Given the description of an element on the screen output the (x, y) to click on. 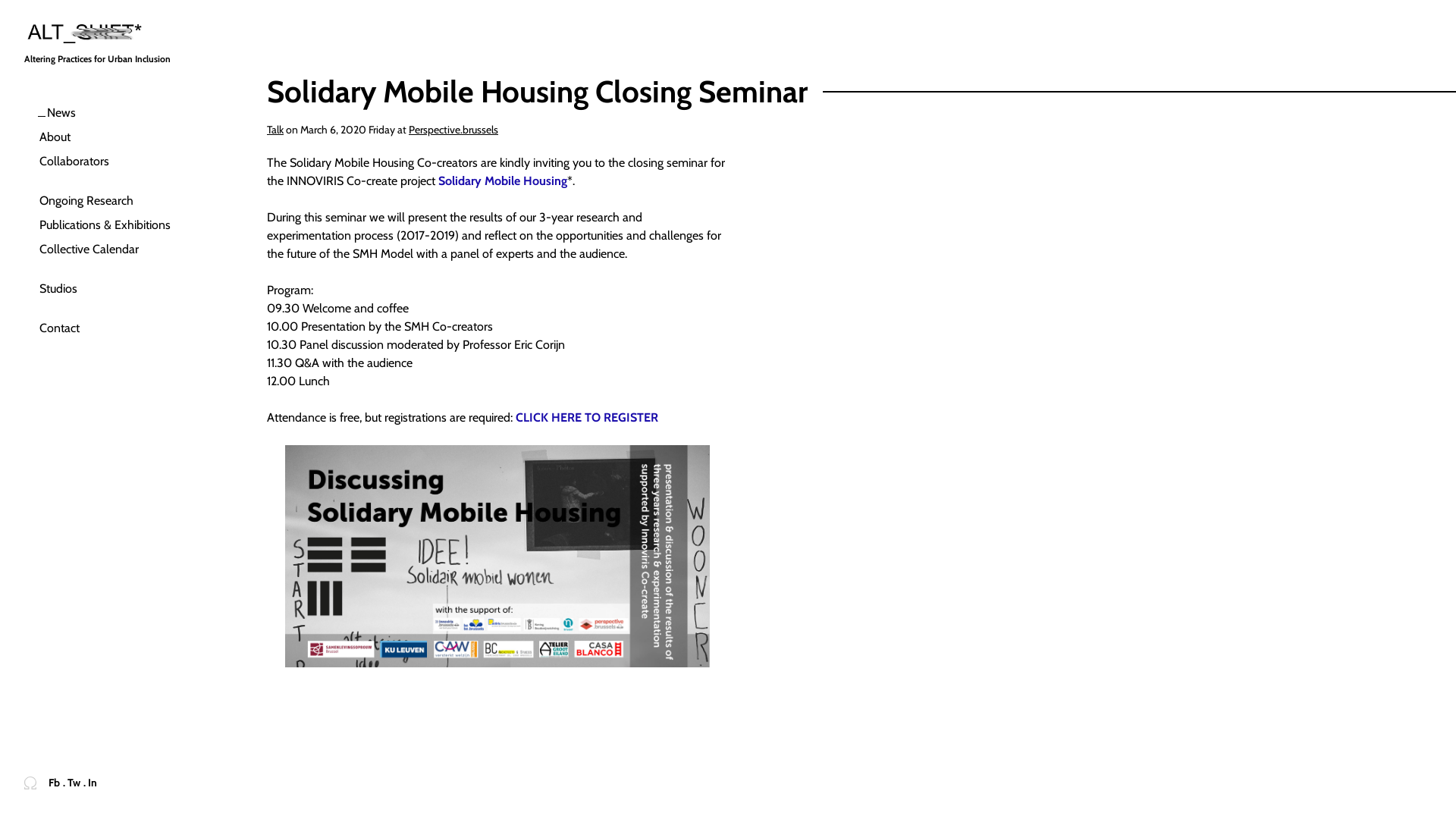
Solidary Mobile Housing Element type: text (502, 180)
Perspective.brussels Element type: text (453, 129)
Fb Element type: text (53, 783)
Altering Practices for Urban Inclusion Element type: text (109, 45)
Contact Element type: text (115, 328)
Collective Calendar Element type: text (115, 249)
Tw Element type: text (73, 783)
Ongoing Research Element type: text (115, 200)
News Element type: text (115, 112)
In Element type: text (92, 783)
CLICK HERE TO REGISTER Element type: text (586, 417)
Studios Element type: text (115, 288)
Talk Element type: text (274, 129)
Collaborators Element type: text (115, 161)
About Element type: text (115, 137)
Publications & Exhibitions Element type: text (115, 225)
